Given the description of an element on the screen output the (x, y) to click on. 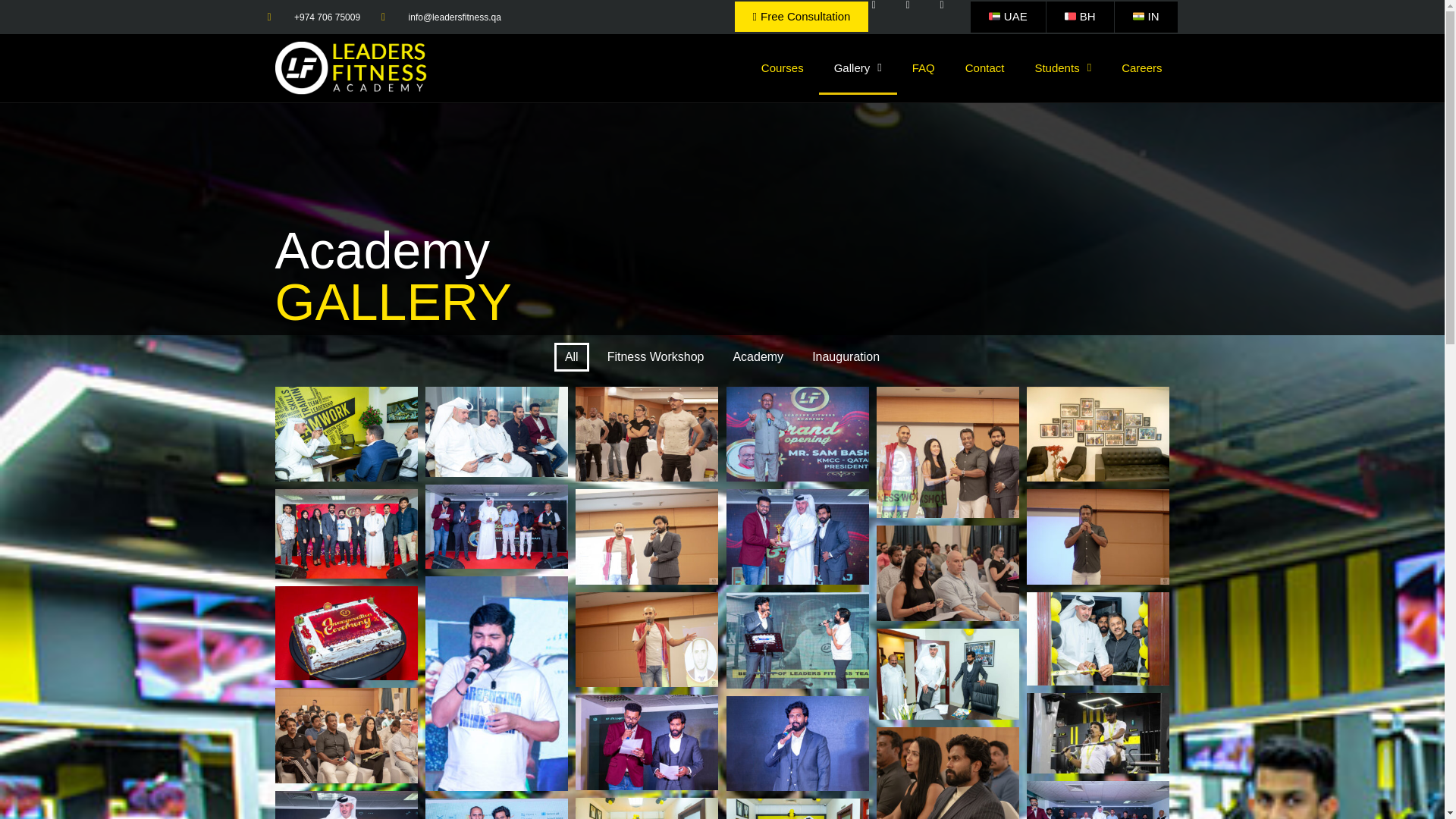
Gallery (857, 68)
Contact (985, 68)
UAE (1008, 16)
Careers (1141, 68)
Fitness Workshop (655, 357)
IN (1146, 16)
Academy (757, 357)
FAQ (923, 68)
Students (1062, 68)
Free Consultation (802, 16)
BH (1079, 16)
All (571, 357)
Courses (781, 68)
Inauguration (845, 357)
